Given the description of an element on the screen output the (x, y) to click on. 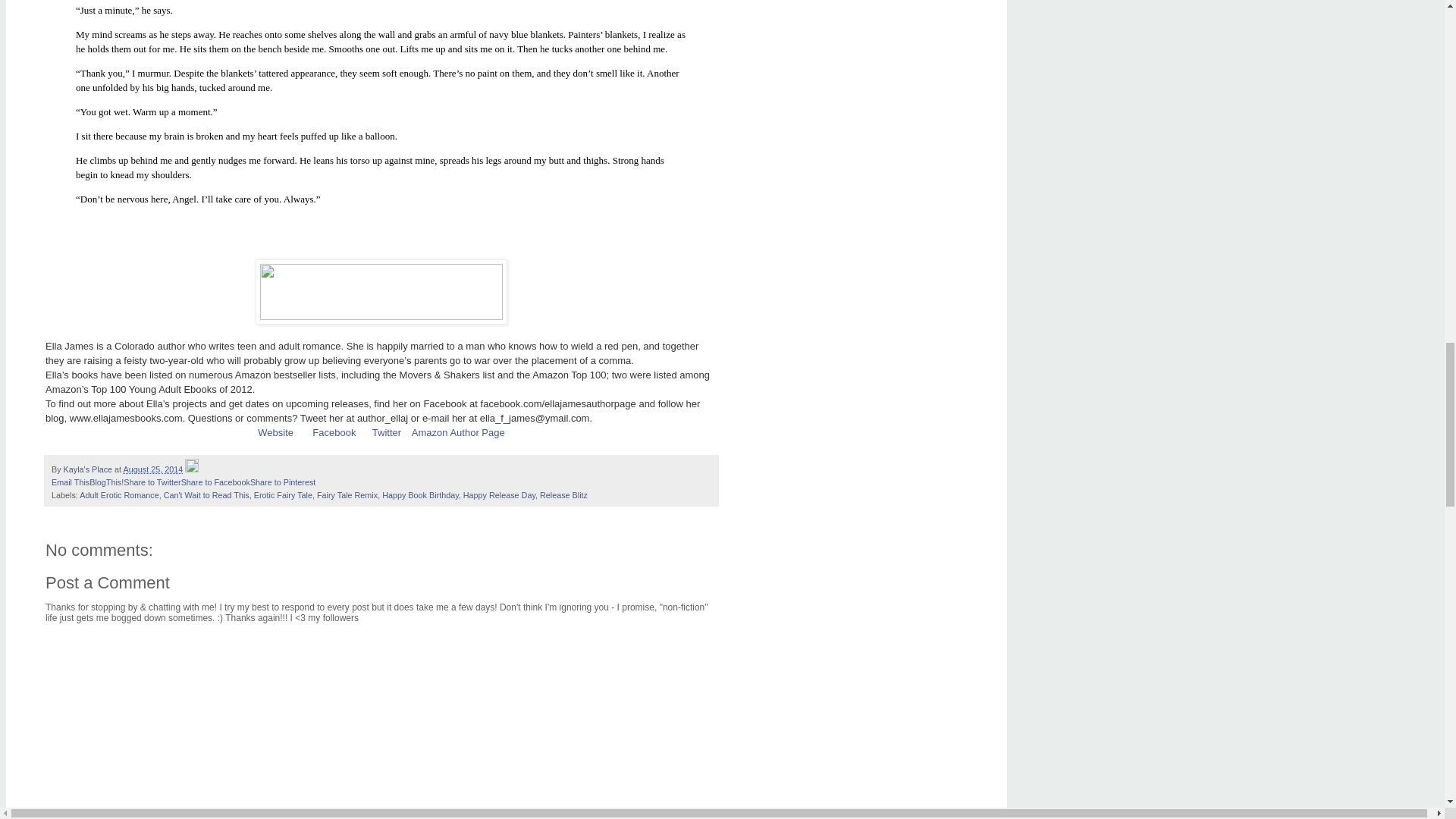
Website (275, 432)
author profile (89, 469)
Share to Twitter (151, 481)
Adult Erotic Romance (119, 494)
Email This (69, 481)
August 25, 2014 (153, 469)
Edit Post (191, 469)
Share to Facebook (215, 481)
Twitter (386, 432)
Release Blitz (564, 494)
Happy Release Day (499, 494)
Can't Wait to Read This (205, 494)
Fairy Tale Remix (347, 494)
Kayla's Place (89, 469)
Share to Pinterest (282, 481)
